Given the description of an element on the screen output the (x, y) to click on. 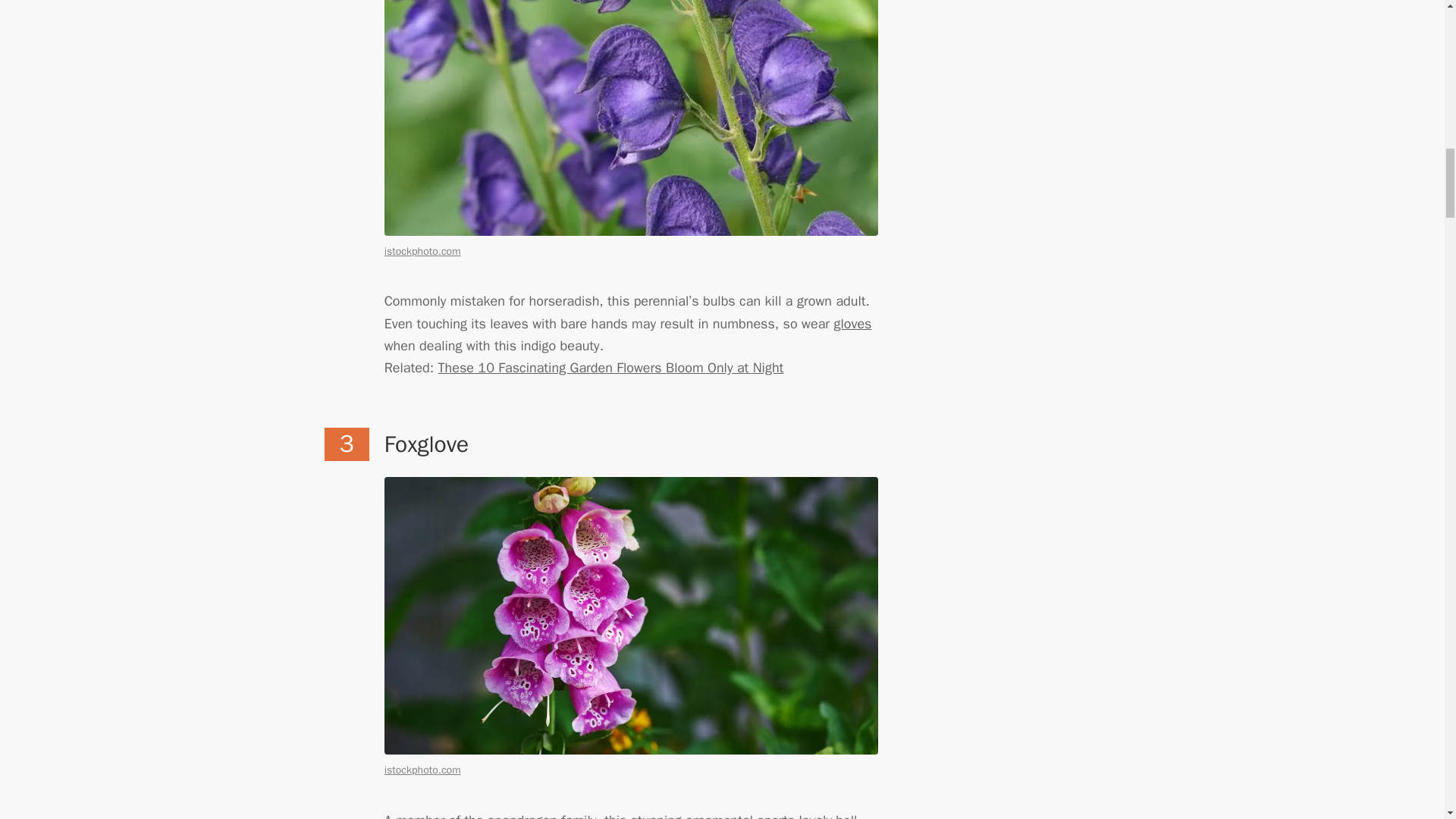
istockphoto.com (422, 250)
15 Fascinating Flowers That Bloom Only at Night (611, 367)
istockphoto.com (422, 769)
